Given the description of an element on the screen output the (x, y) to click on. 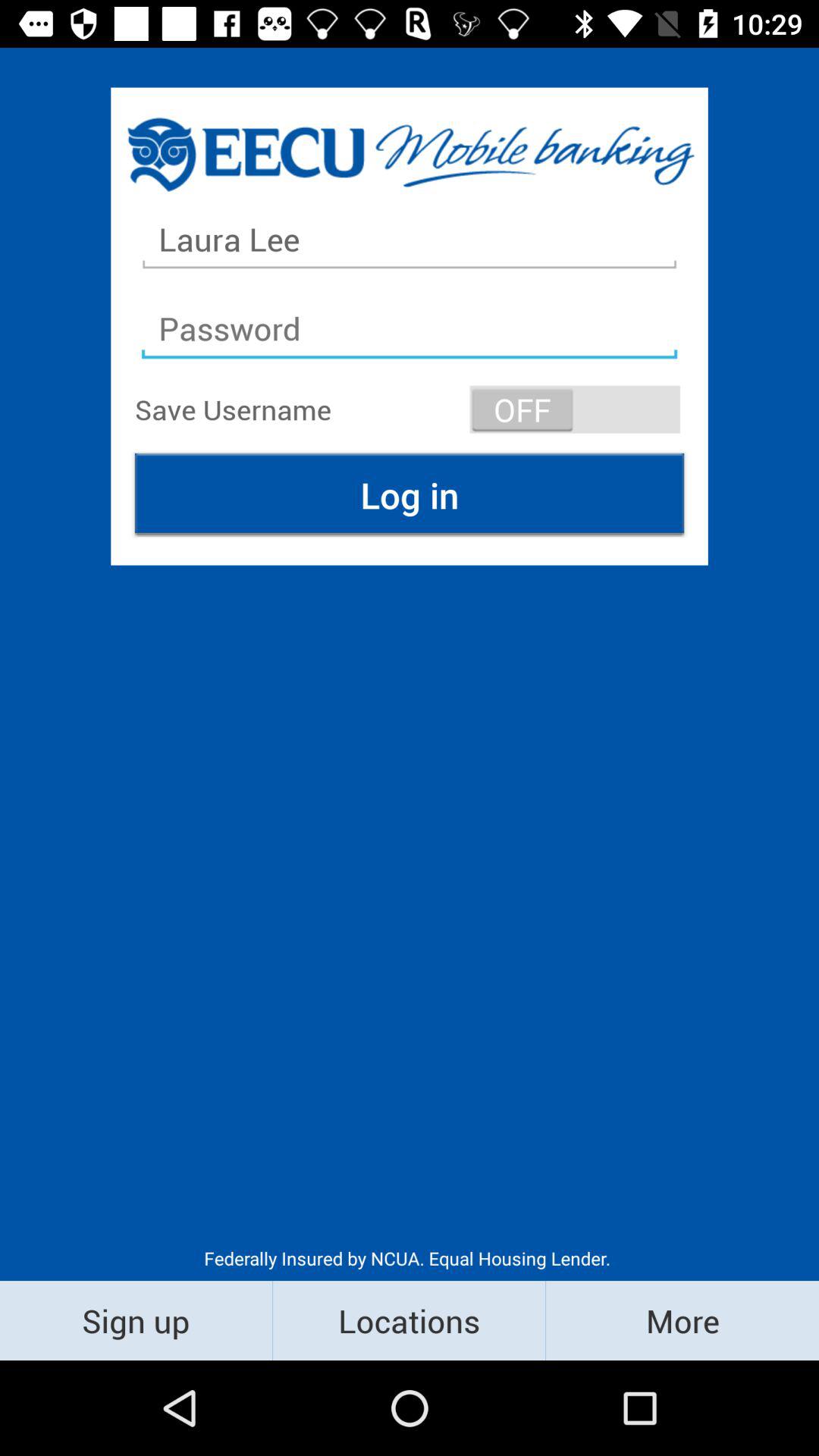
turn on item below the federally insured by icon (409, 1320)
